Given the description of an element on the screen output the (x, y) to click on. 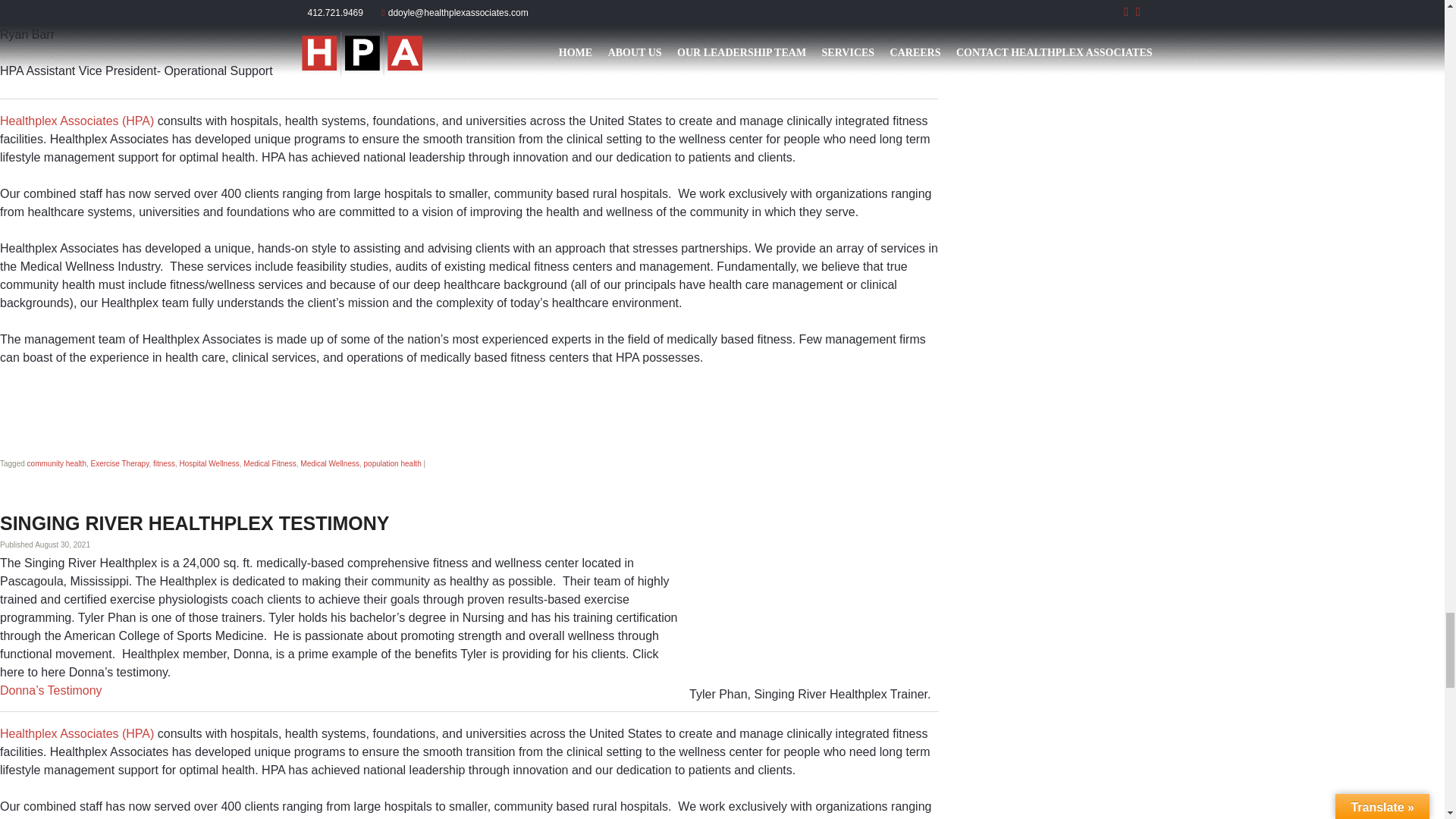
Permalink to Singing River Healthplex Testimony (194, 522)
